Given the description of an element on the screen output the (x, y) to click on. 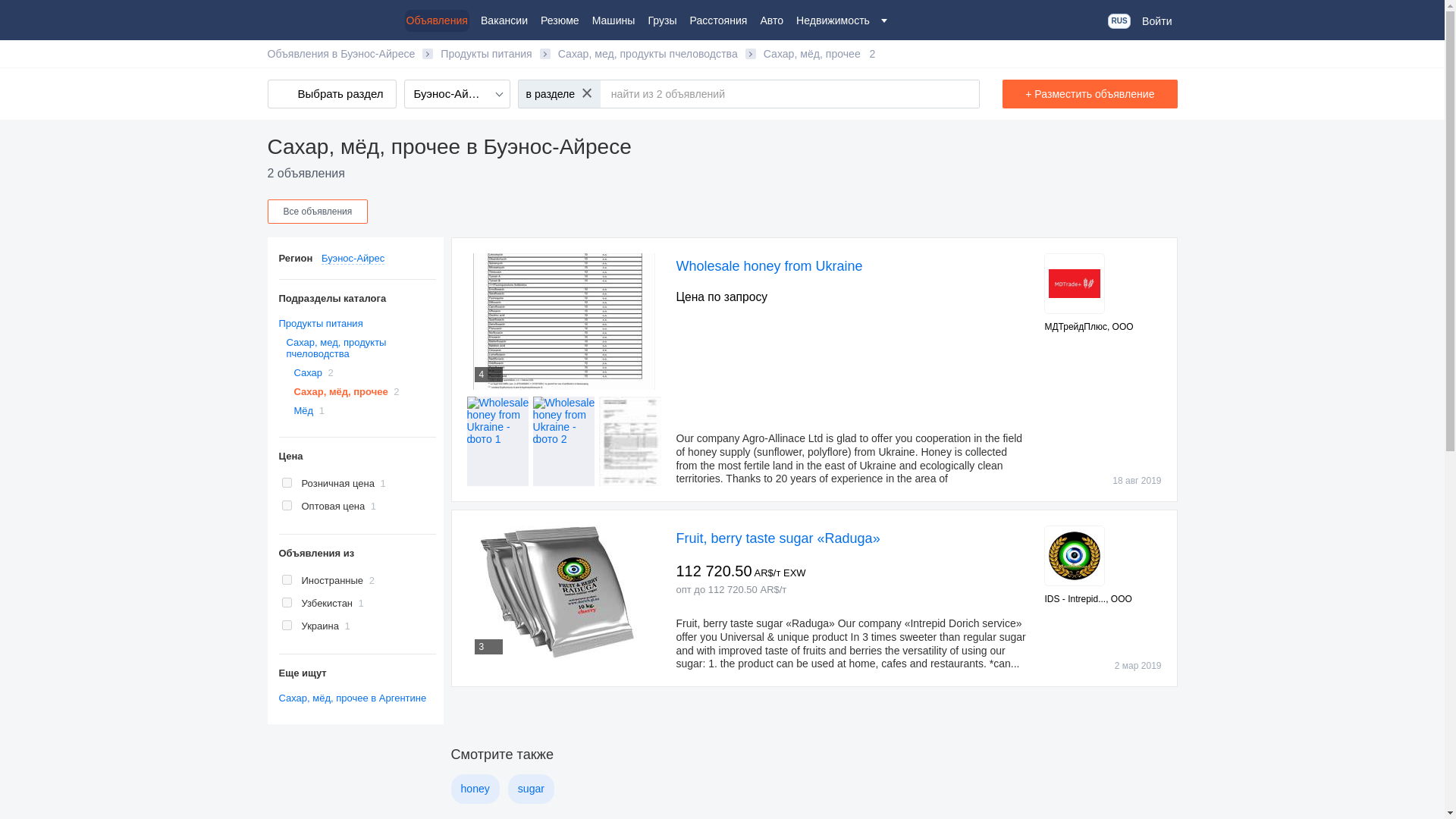
47129 (287, 602)
-1 (287, 579)
Flagma (328, 18)
47347 (287, 624)
0 (287, 482)
Flagma  (328, 18)
1 (287, 505)
